Given the description of an element on the screen output the (x, y) to click on. 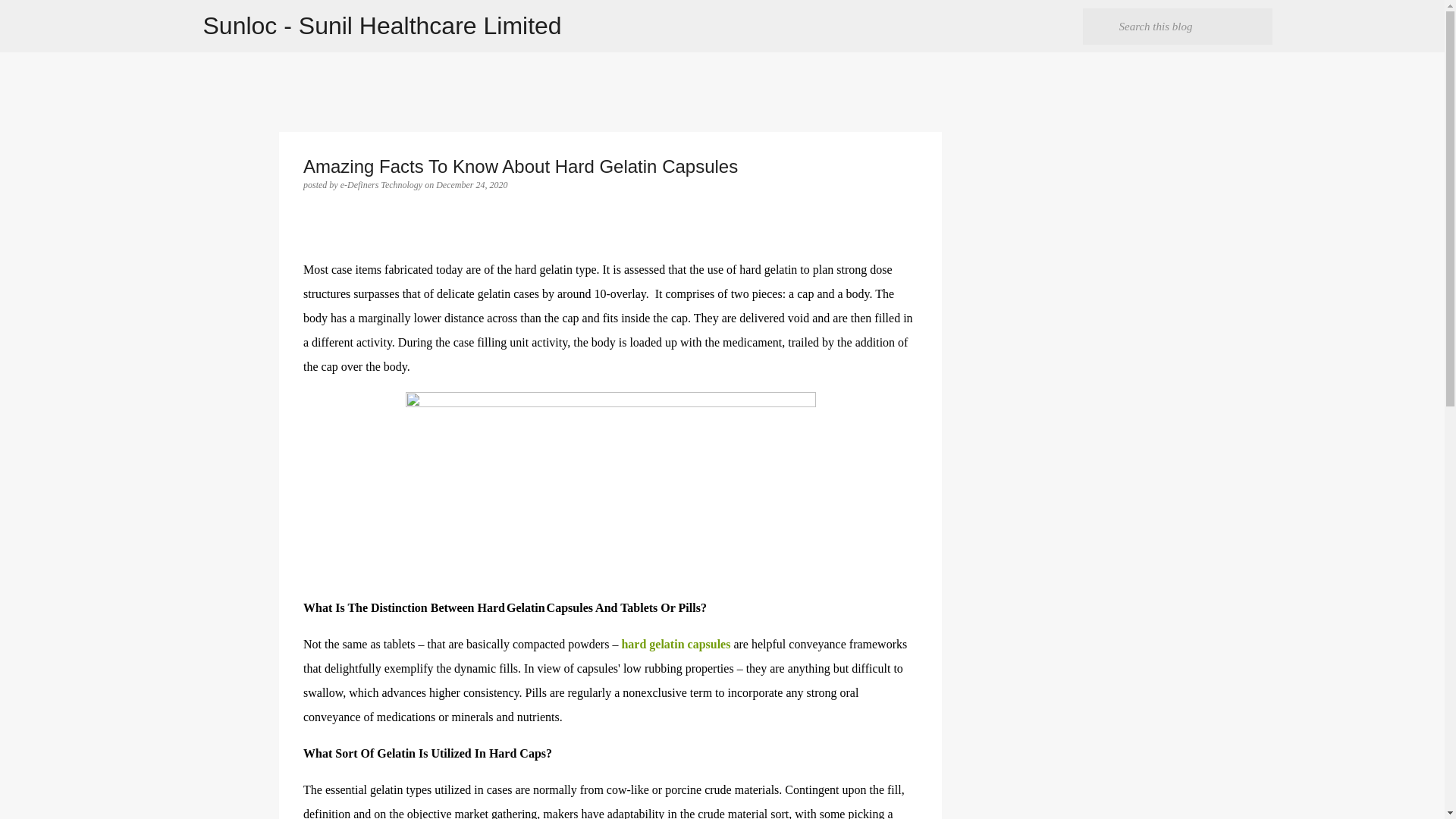
Sunloc - Sunil Healthcare Limited (382, 25)
hard gelatin capsules (675, 644)
author profile (382, 184)
e-Definers Technology (382, 184)
December 24, 2020 (470, 184)
permanent link (470, 184)
